Given the description of an element on the screen output the (x, y) to click on. 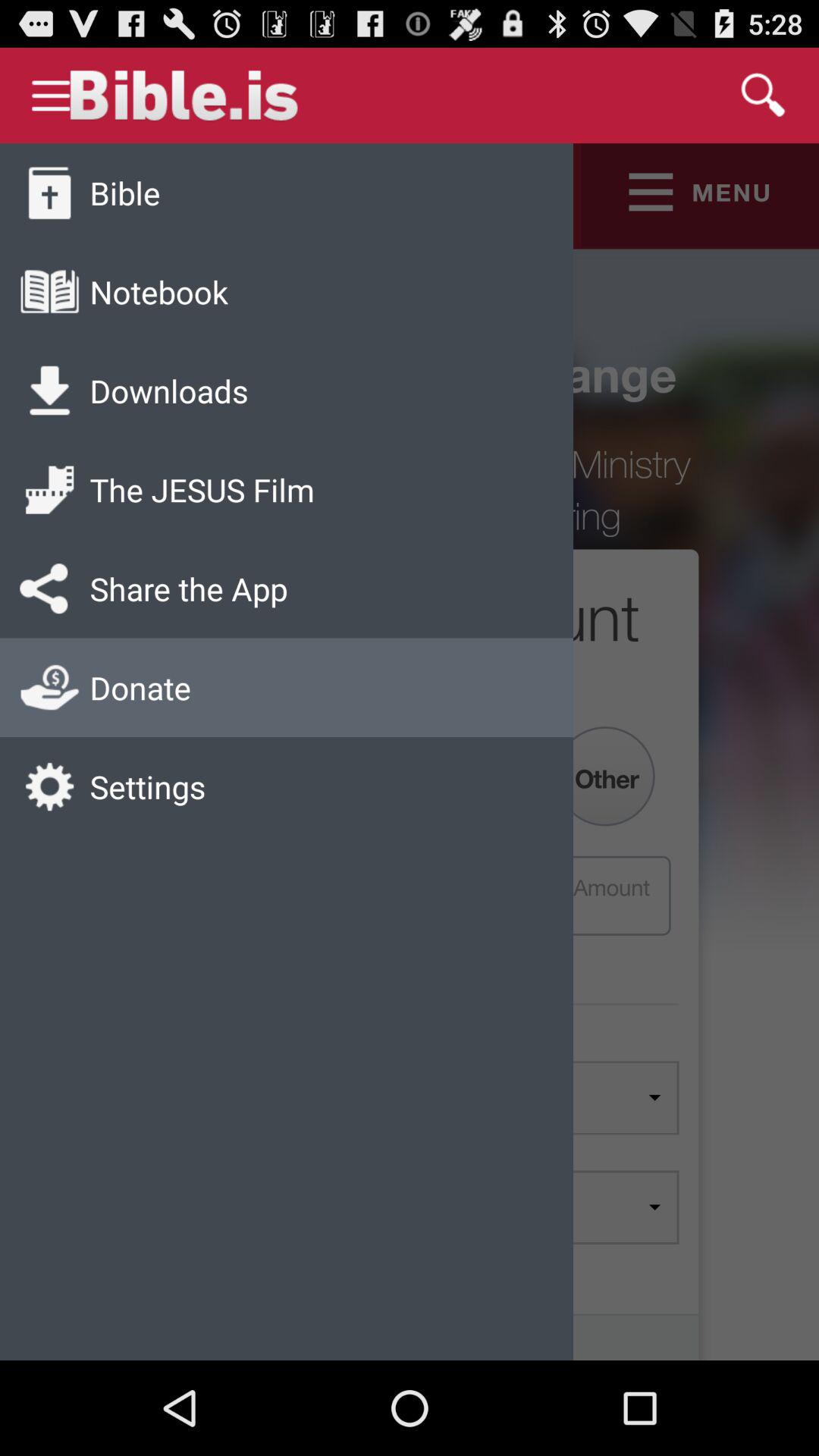
launch icon below the donate icon (147, 786)
